Given the description of an element on the screen output the (x, y) to click on. 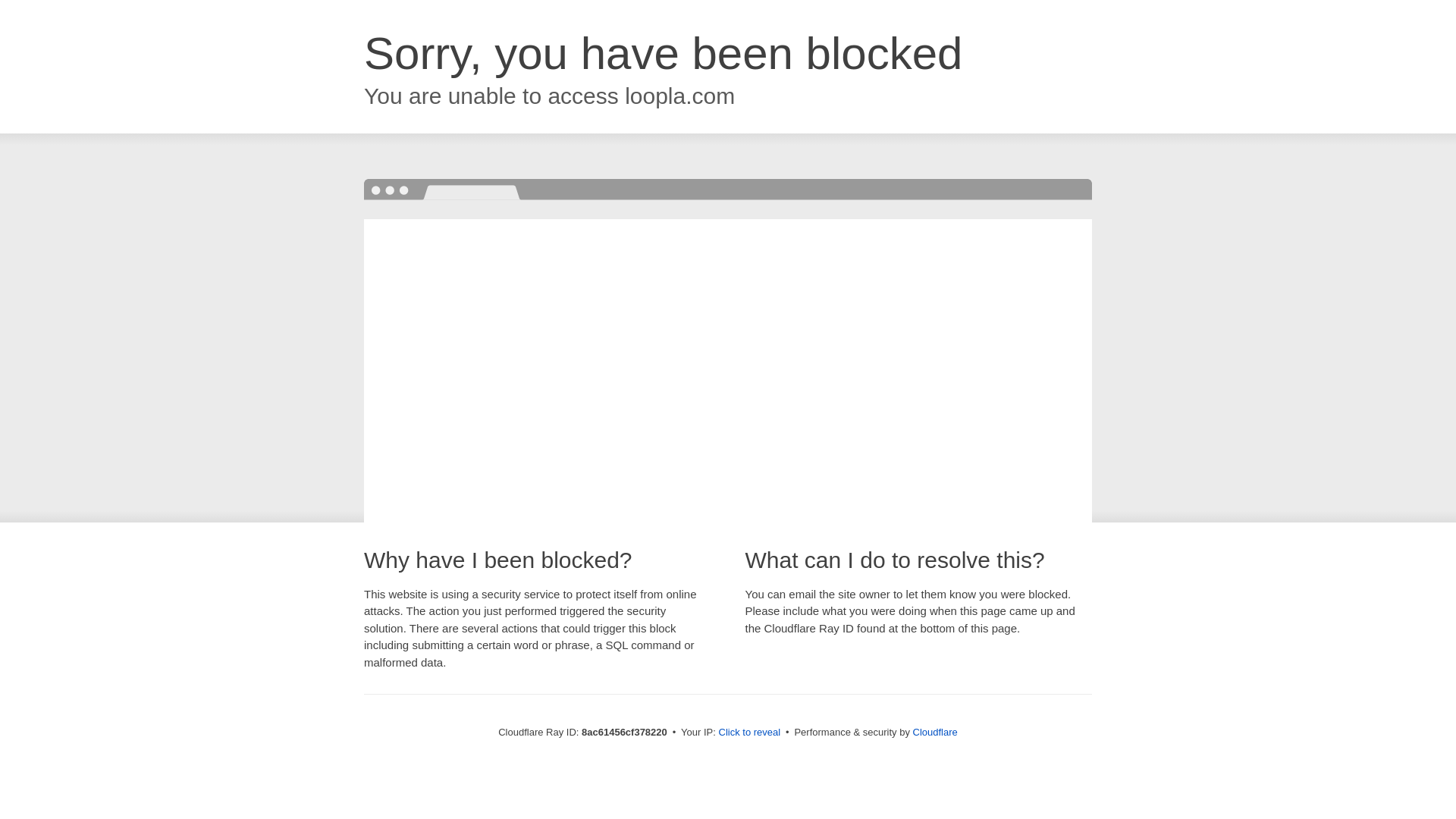
Cloudflare (935, 731)
Click to reveal (749, 732)
